Given the description of an element on the screen output the (x, y) to click on. 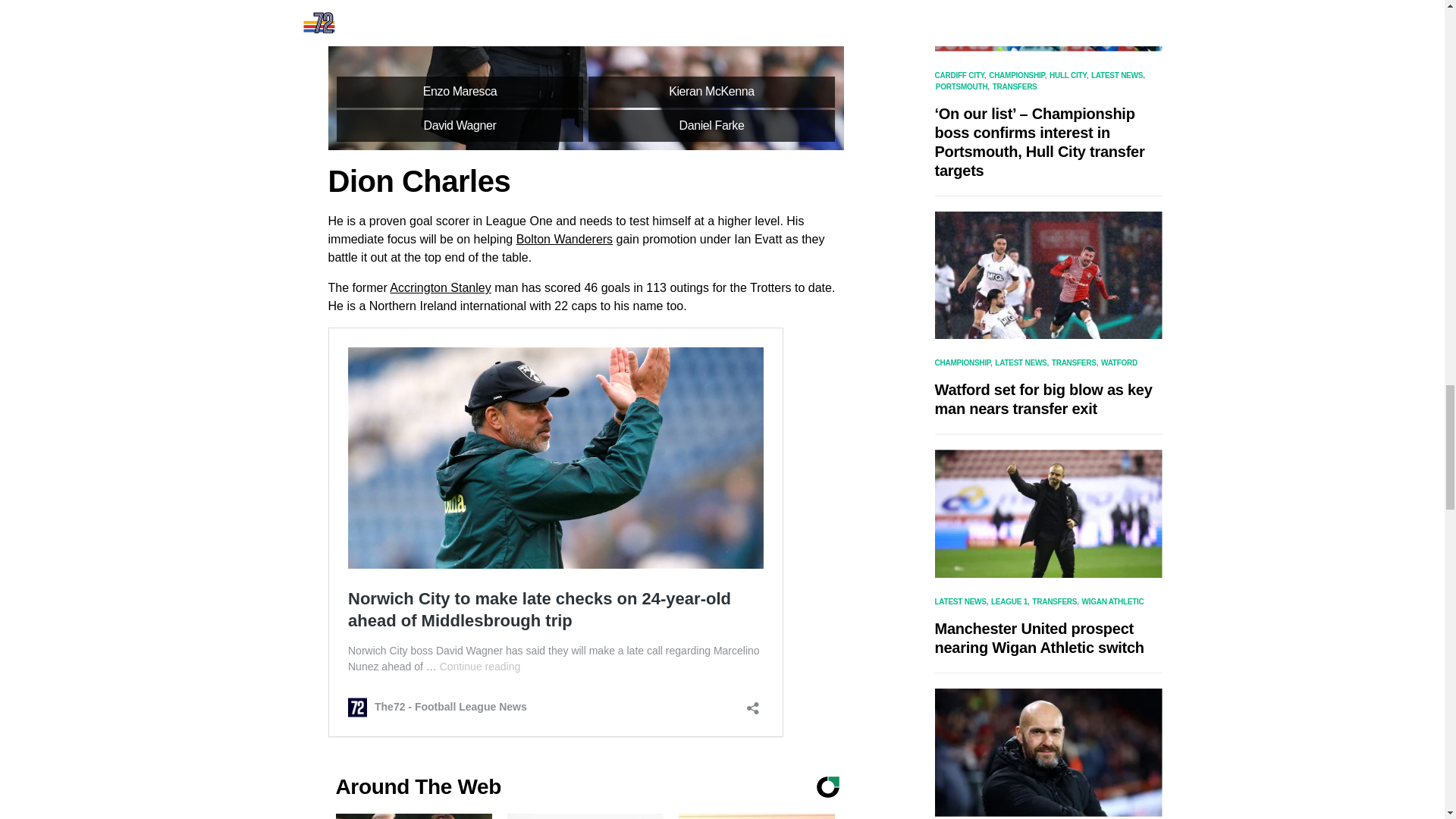
David Wagner (459, 125)
Enzo Maresca (459, 92)
Daniel Farke (711, 125)
Kieran McKenna (711, 92)
